Given the description of an element on the screen output the (x, y) to click on. 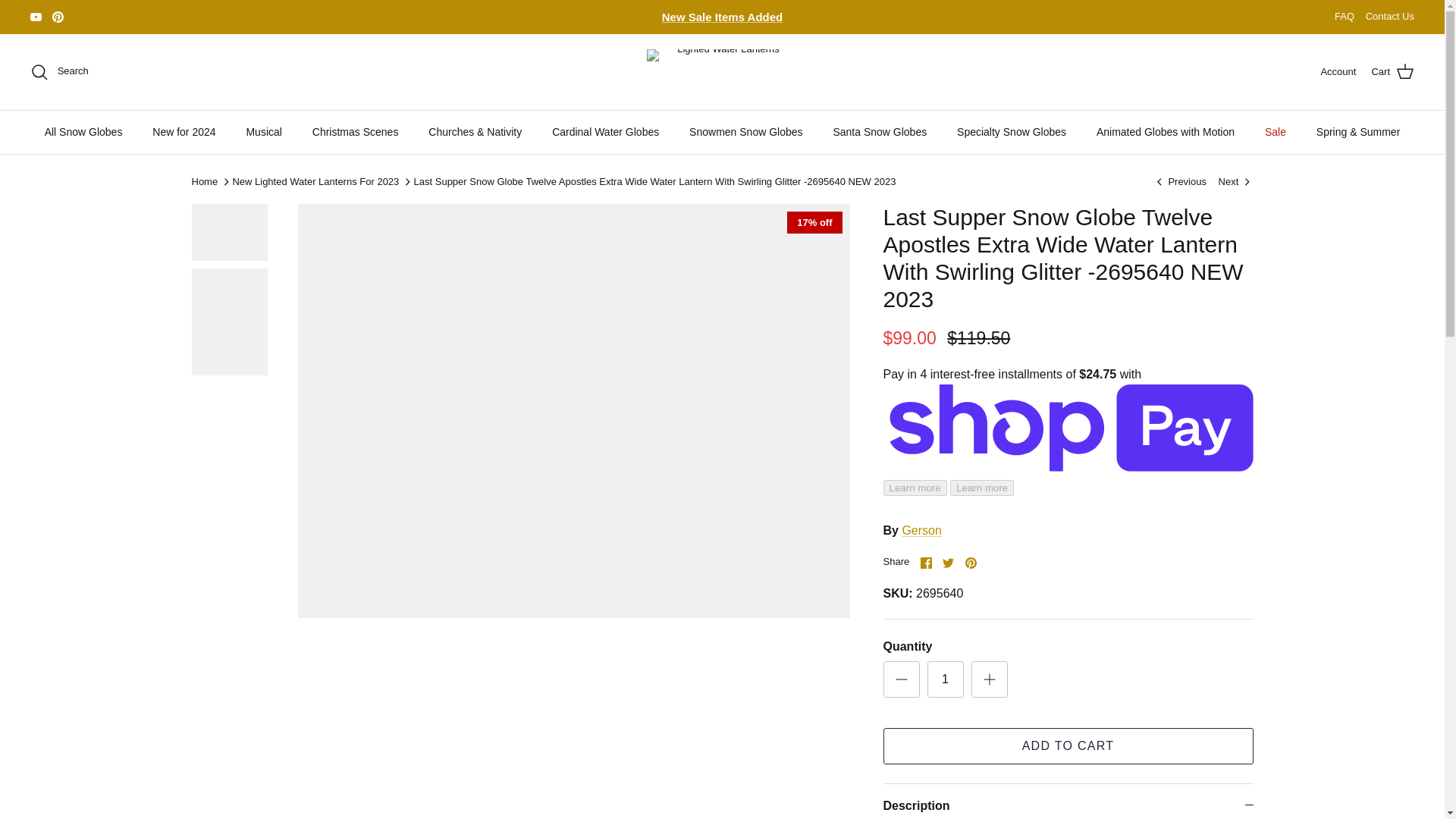
Cart (1392, 71)
Minus (900, 679)
Lighted Water Lanterns (721, 72)
Account (1337, 72)
1 (944, 678)
Pinterest (970, 562)
Search (59, 72)
Santa In Window Pane Arched Lighted Snow Globe - 2688550 (1180, 182)
Youtube (36, 16)
Youtube (36, 16)
New Sale Items Added (722, 16)
Sale (722, 16)
Twitter (947, 562)
Contact Us (1389, 16)
